Given the description of an element on the screen output the (x, y) to click on. 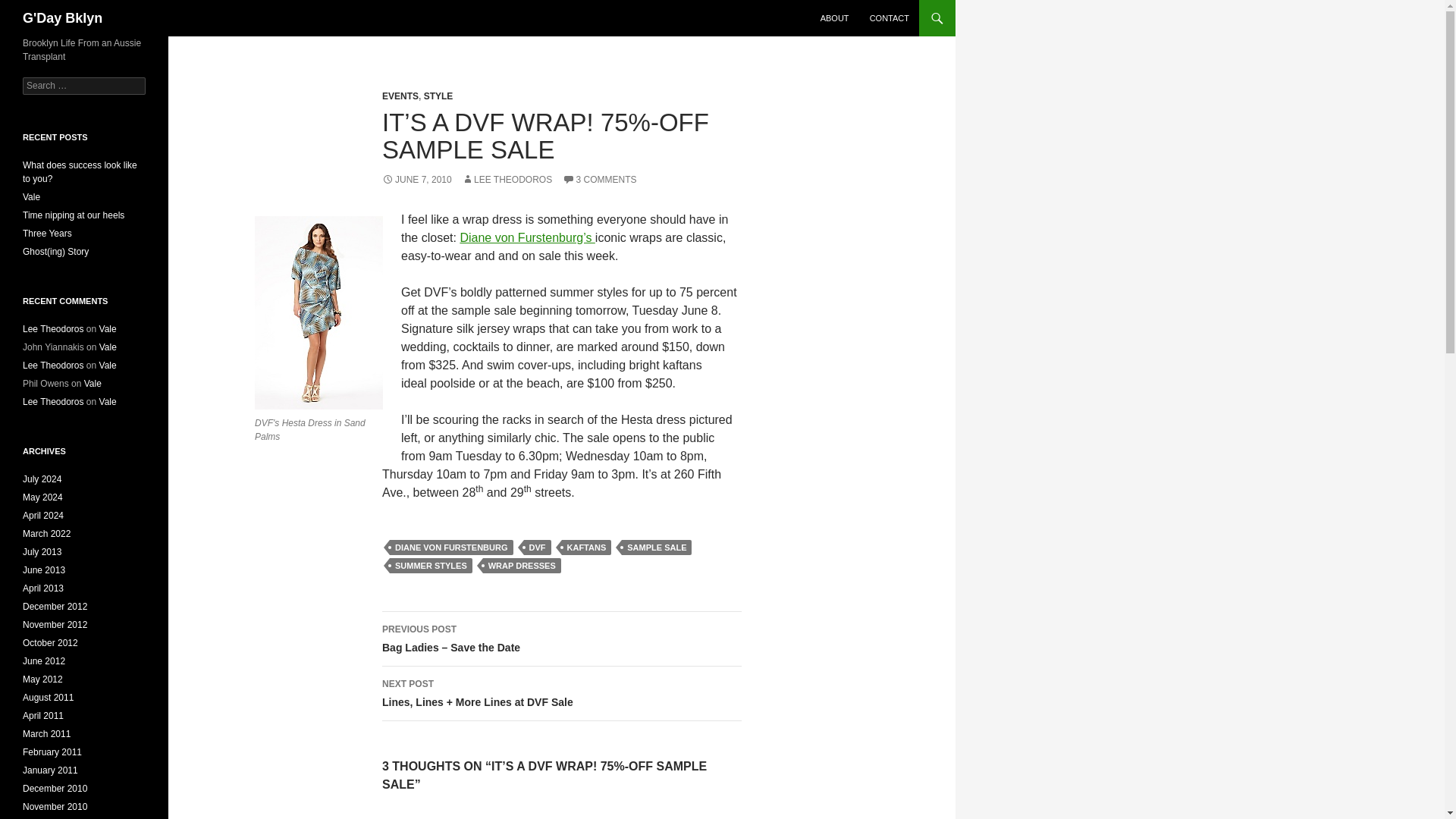
What does success look like to you? (79, 171)
KAFTANS (586, 547)
JUNE 7, 2010 (416, 179)
SUMMER STYLES (430, 565)
LEE THEODOROS (506, 179)
SAMPLE SALE (656, 547)
CONTACT (889, 18)
Vale (31, 196)
Vale (107, 347)
DIANE VON FURSTENBURG (451, 547)
